Given the description of an element on the screen output the (x, y) to click on. 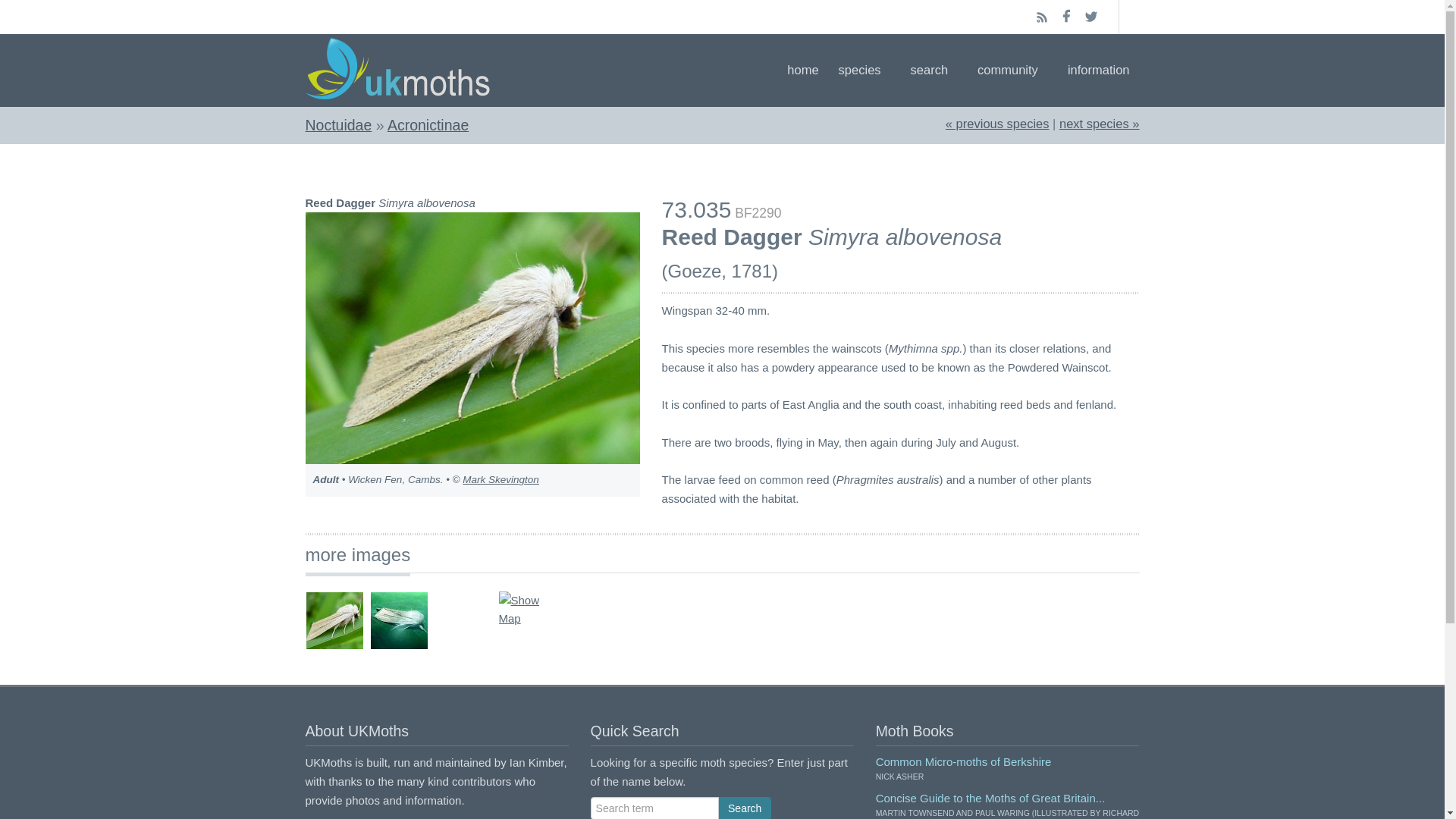
species (864, 70)
Reed Dagger (996, 123)
search (934, 70)
Reed Dagger Simyra albovenosa (472, 338)
Reed Dagger (1098, 123)
